Given the description of an element on the screen output the (x, y) to click on. 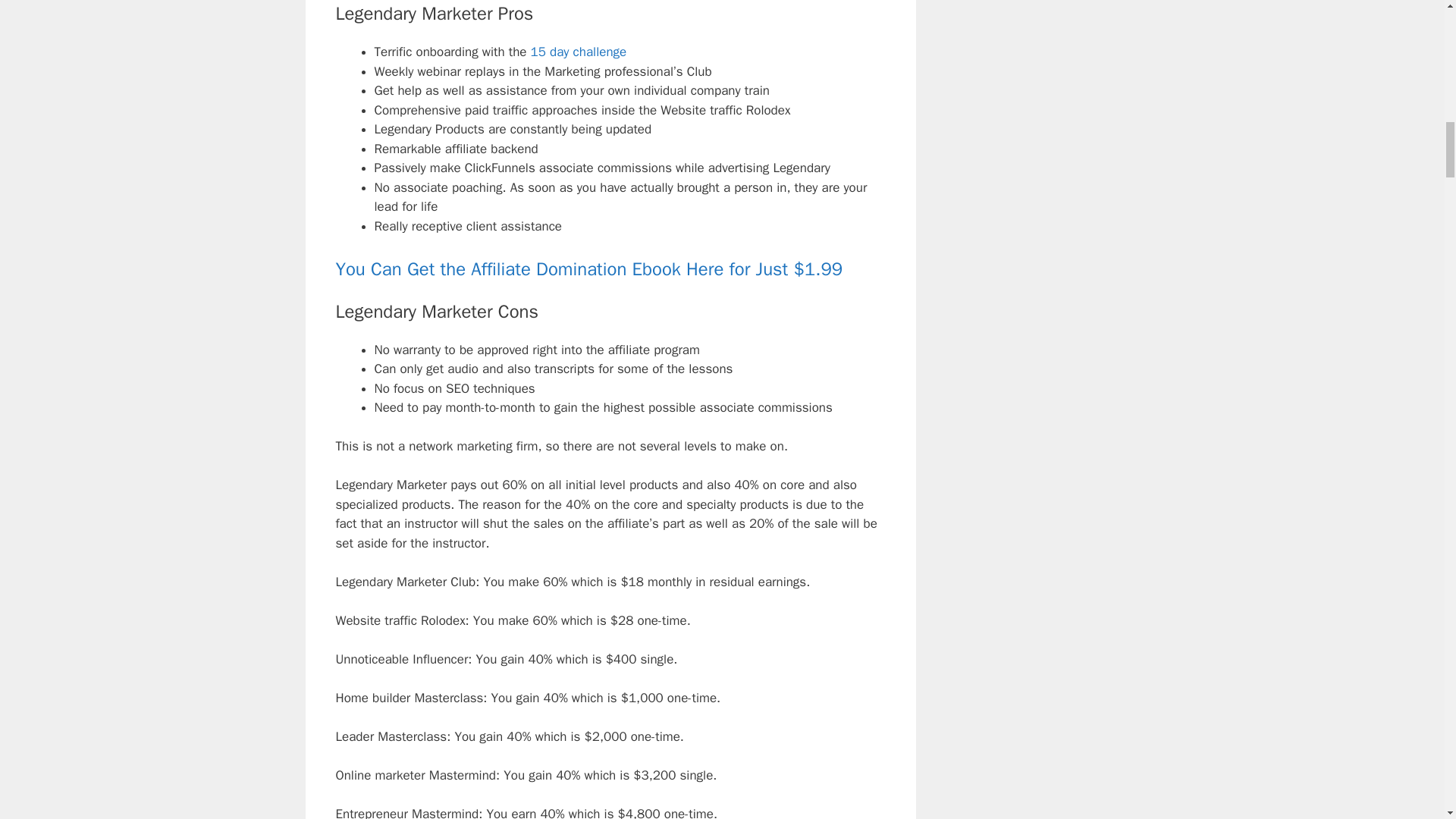
15 day challenge (579, 51)
